Given the description of an element on the screen output the (x, y) to click on. 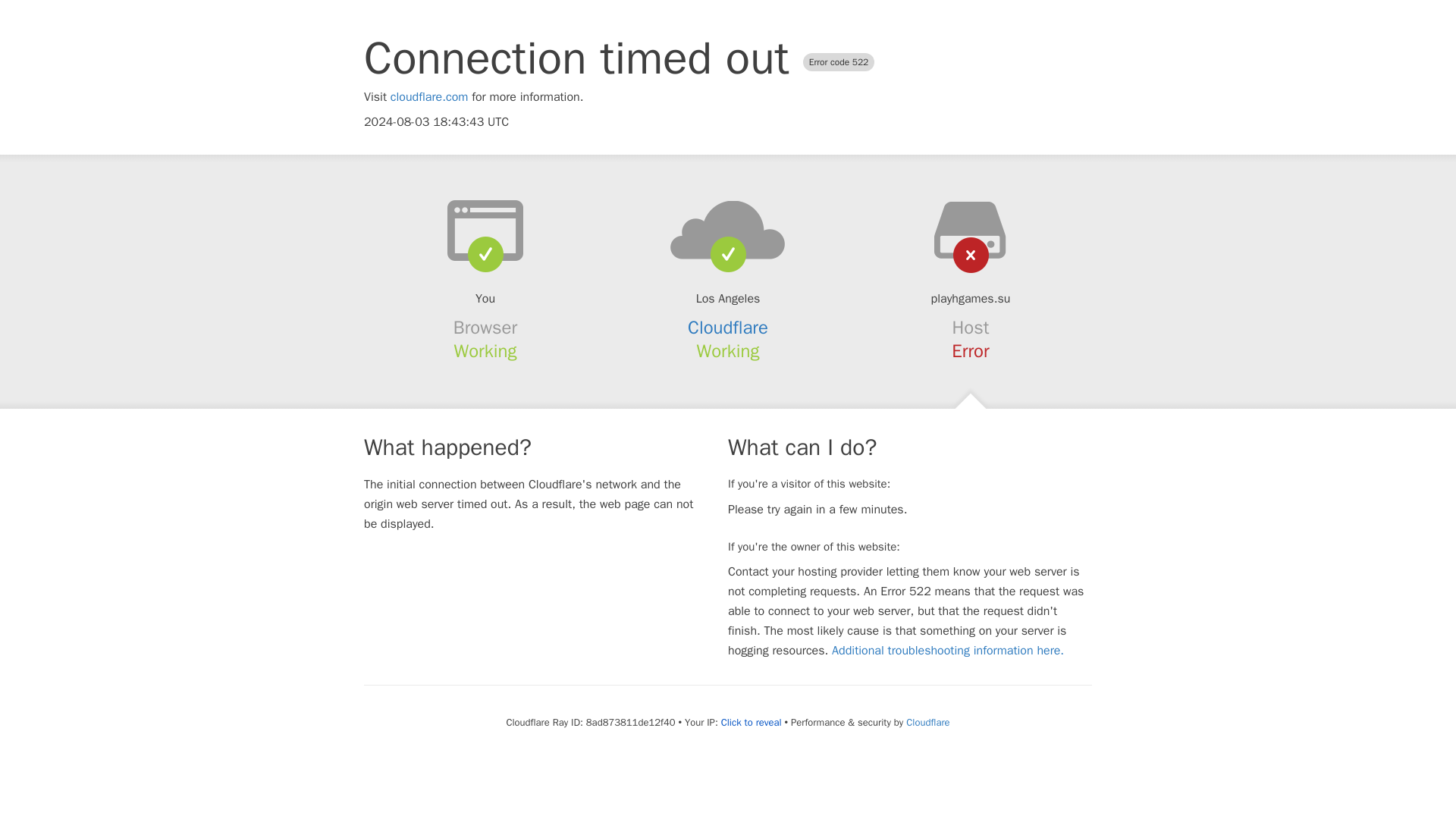
Click to reveal (750, 722)
Cloudflare (727, 327)
Cloudflare (927, 721)
cloudflare.com (429, 96)
Additional troubleshooting information here. (947, 650)
